Given the description of an element on the screen output the (x, y) to click on. 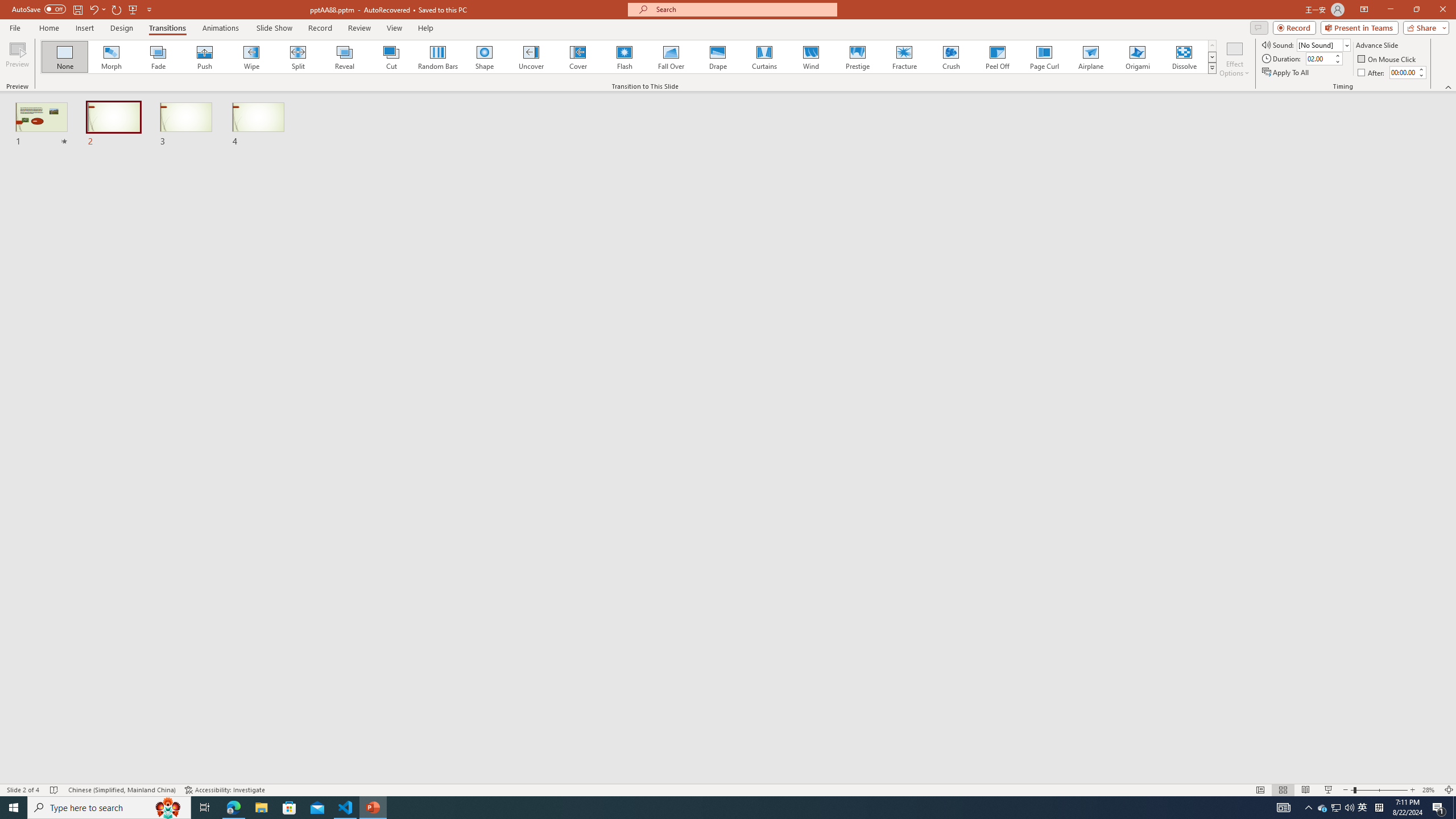
Wind (810, 56)
Curtains (764, 56)
On Mouse Click (1387, 58)
Drape (717, 56)
Flash (624, 56)
Page Curl (1043, 56)
